Given the description of an element on the screen output the (x, y) to click on. 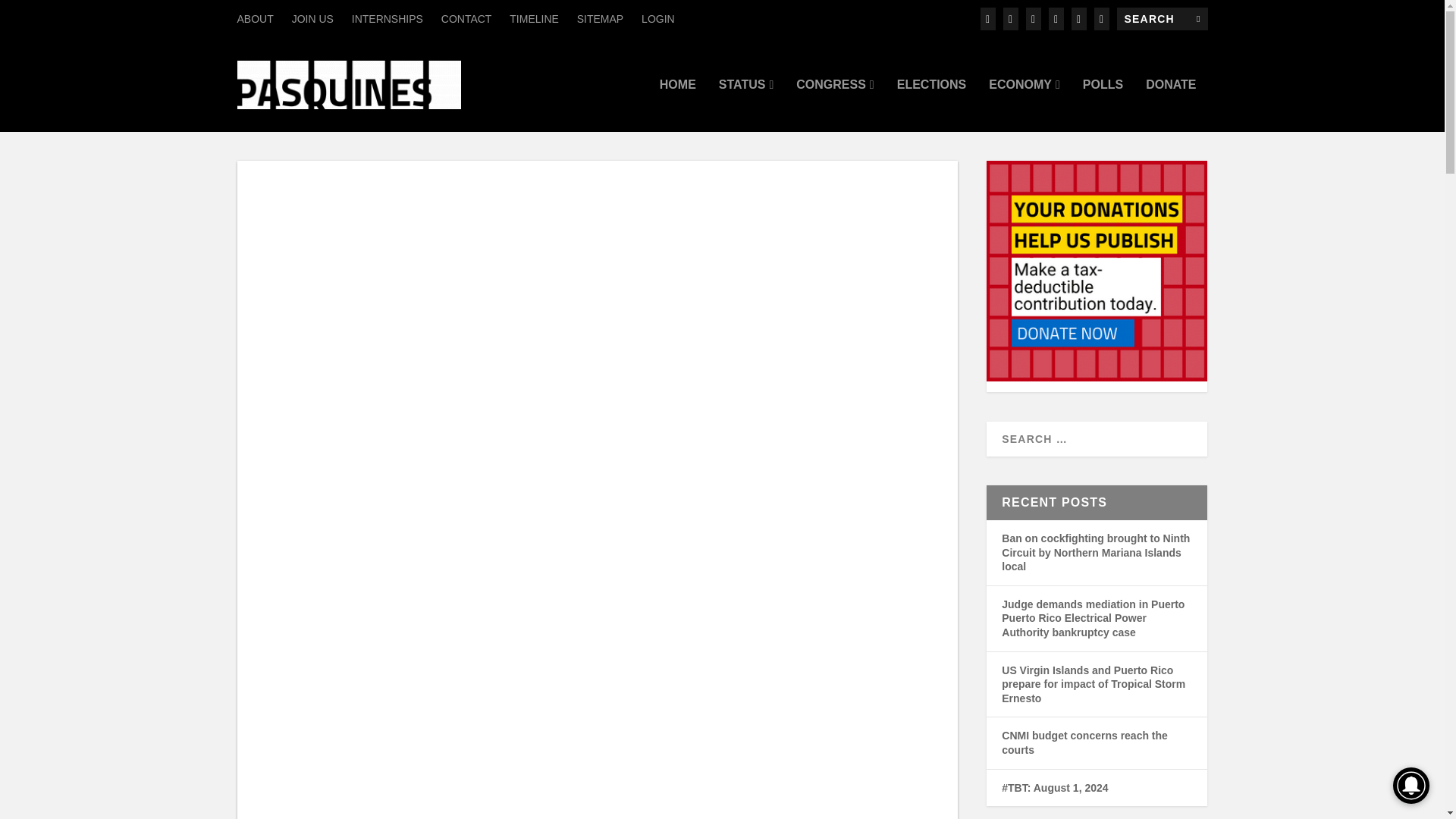
JOIN US (312, 18)
CONGRESS (834, 104)
CONTACT (466, 18)
SITEMAP (599, 18)
ABOUT (254, 18)
Search for: (1161, 18)
TIMELINE (534, 18)
INTERNSHIPS (387, 18)
STATUS (746, 104)
